Given the description of an element on the screen output the (x, y) to click on. 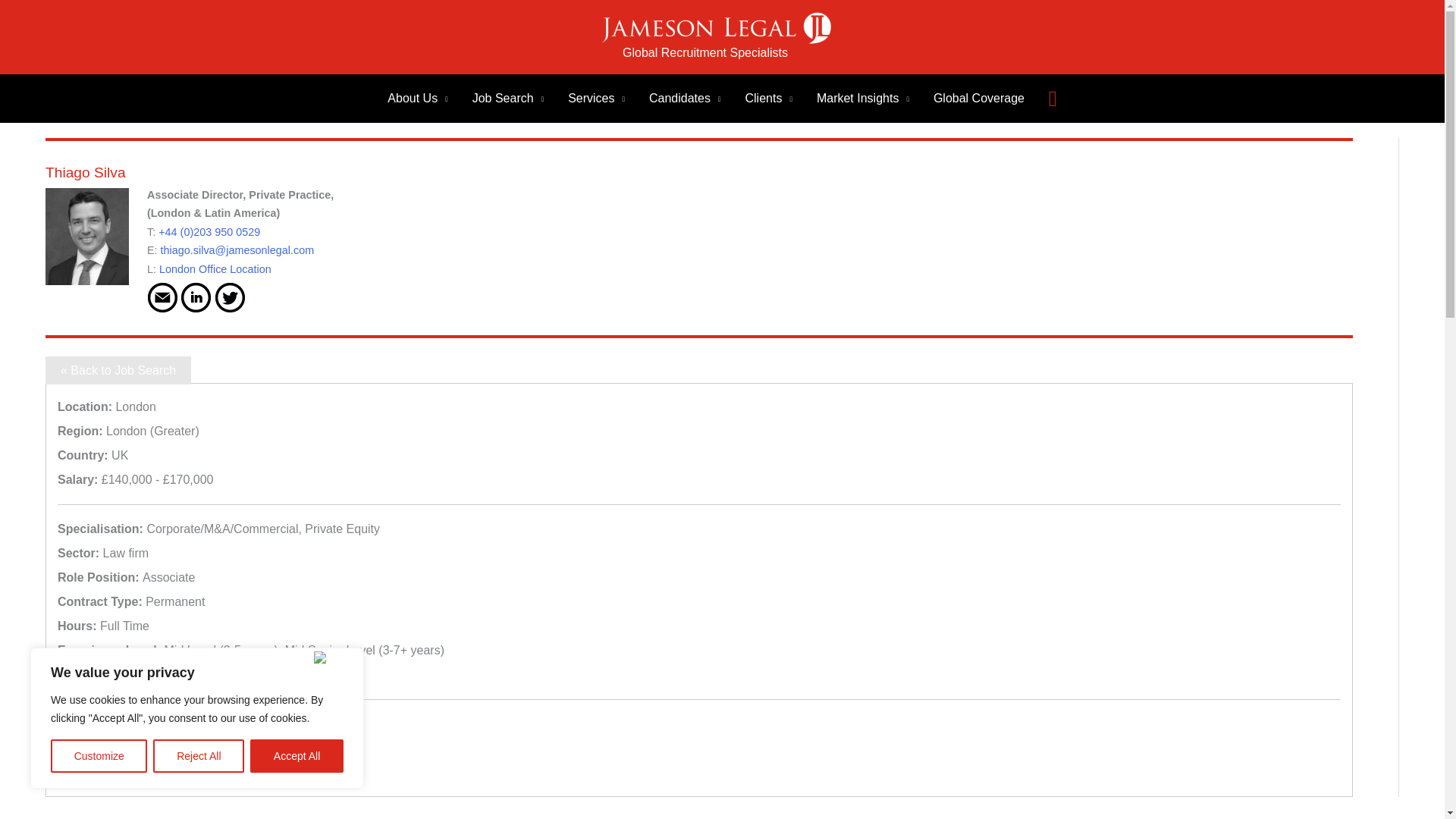
Job Search (508, 98)
Reject All (198, 756)
Accept All (296, 756)
About Us (417, 98)
Services (596, 98)
Customize (98, 756)
